Given the description of an element on the screen output the (x, y) to click on. 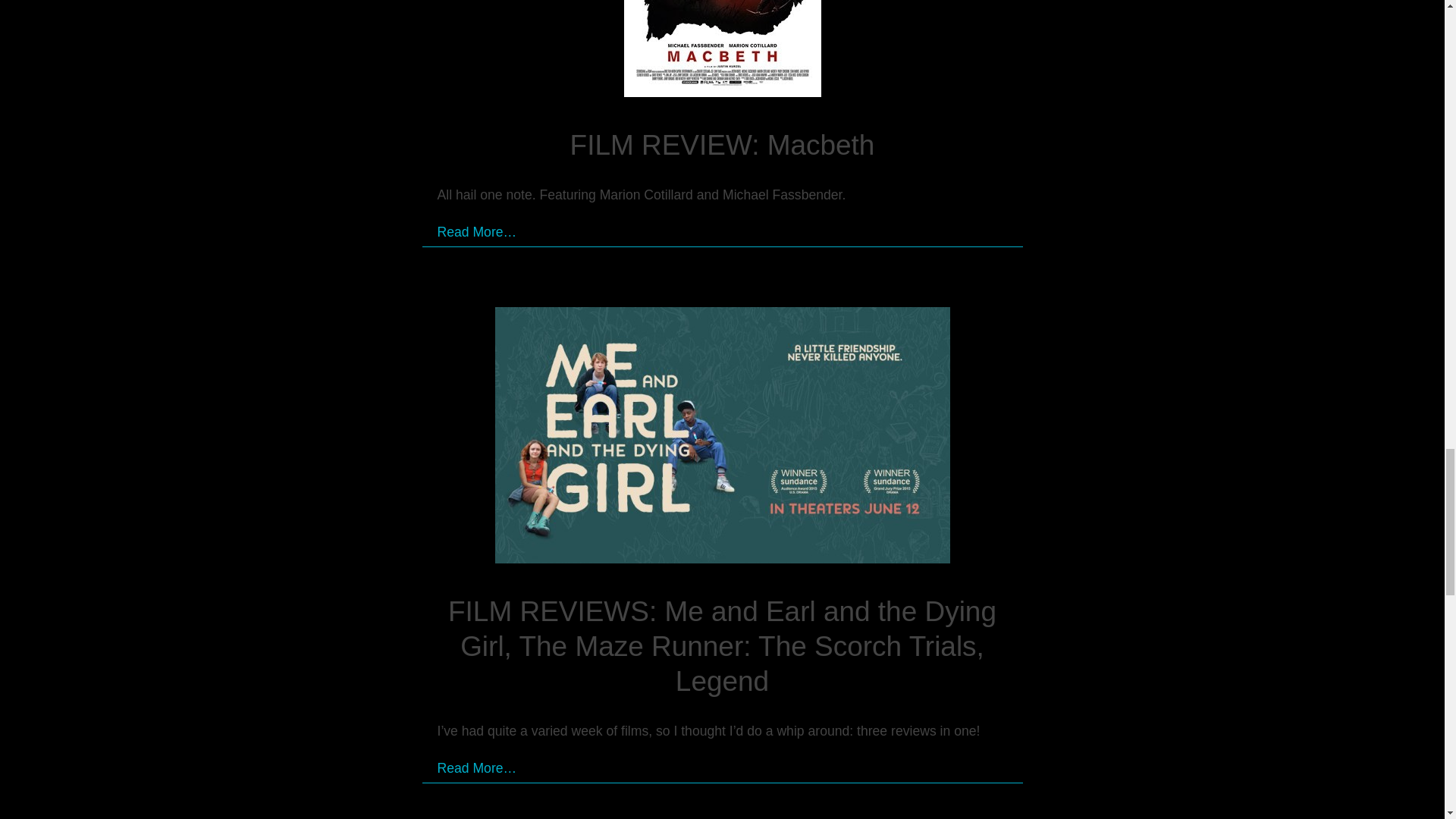
FILM REVIEW: Macbeth (722, 52)
FILM REVIEW: Macbeth (722, 144)
